Given the description of an element on the screen output the (x, y) to click on. 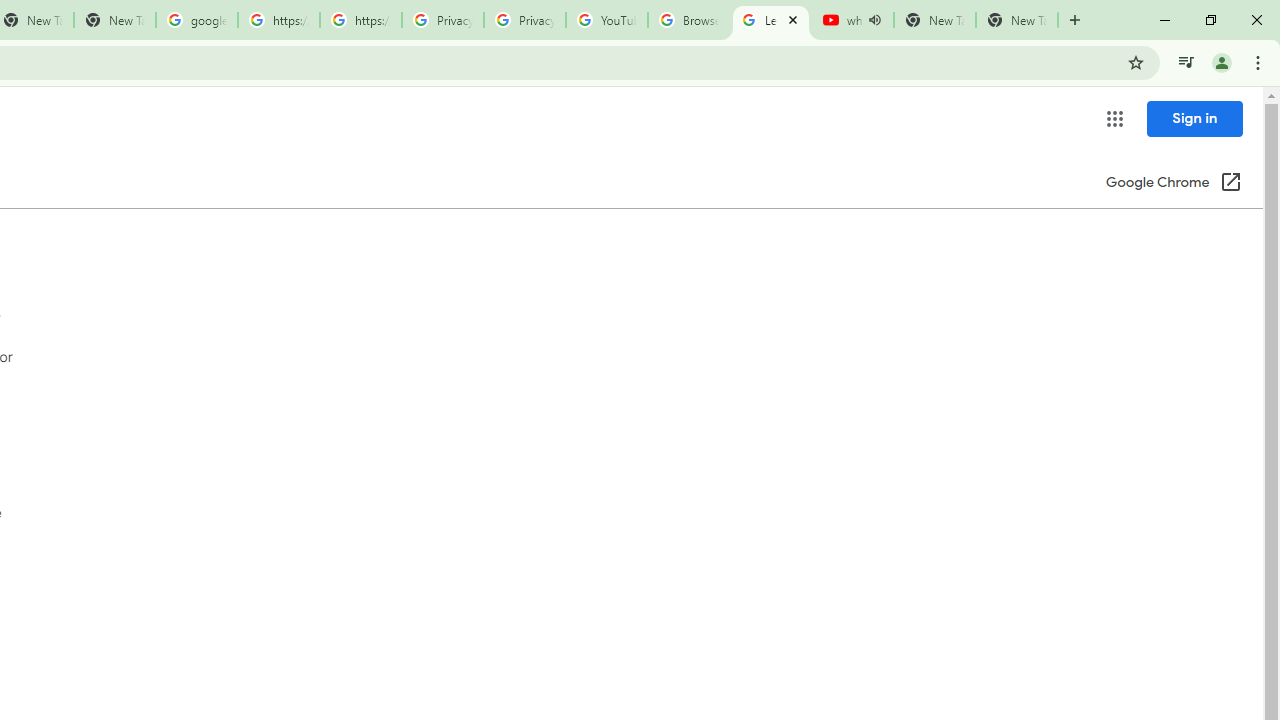
YouTube (606, 20)
Browse Chrome as a guest - Computer - Google Chrome Help (688, 20)
